Given the description of an element on the screen output the (x, y) to click on. 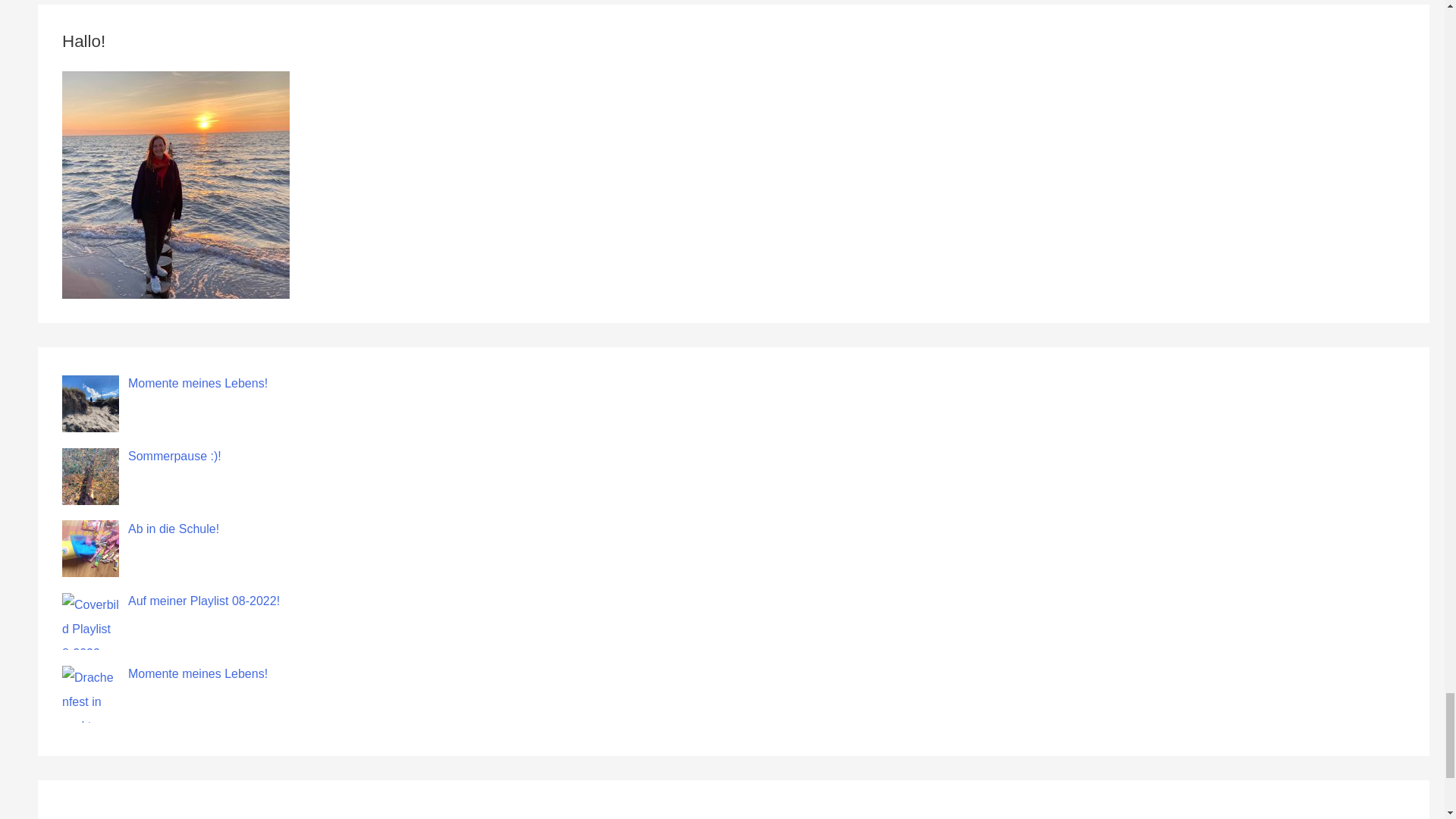
Ab in die Schule! (173, 528)
Hallo! (175, 184)
Momente meines Lebens! (197, 382)
Momente meines Lebens! (197, 673)
Auf meiner Playlist 08-2022! (203, 600)
